Given the description of an element on the screen output the (x, y) to click on. 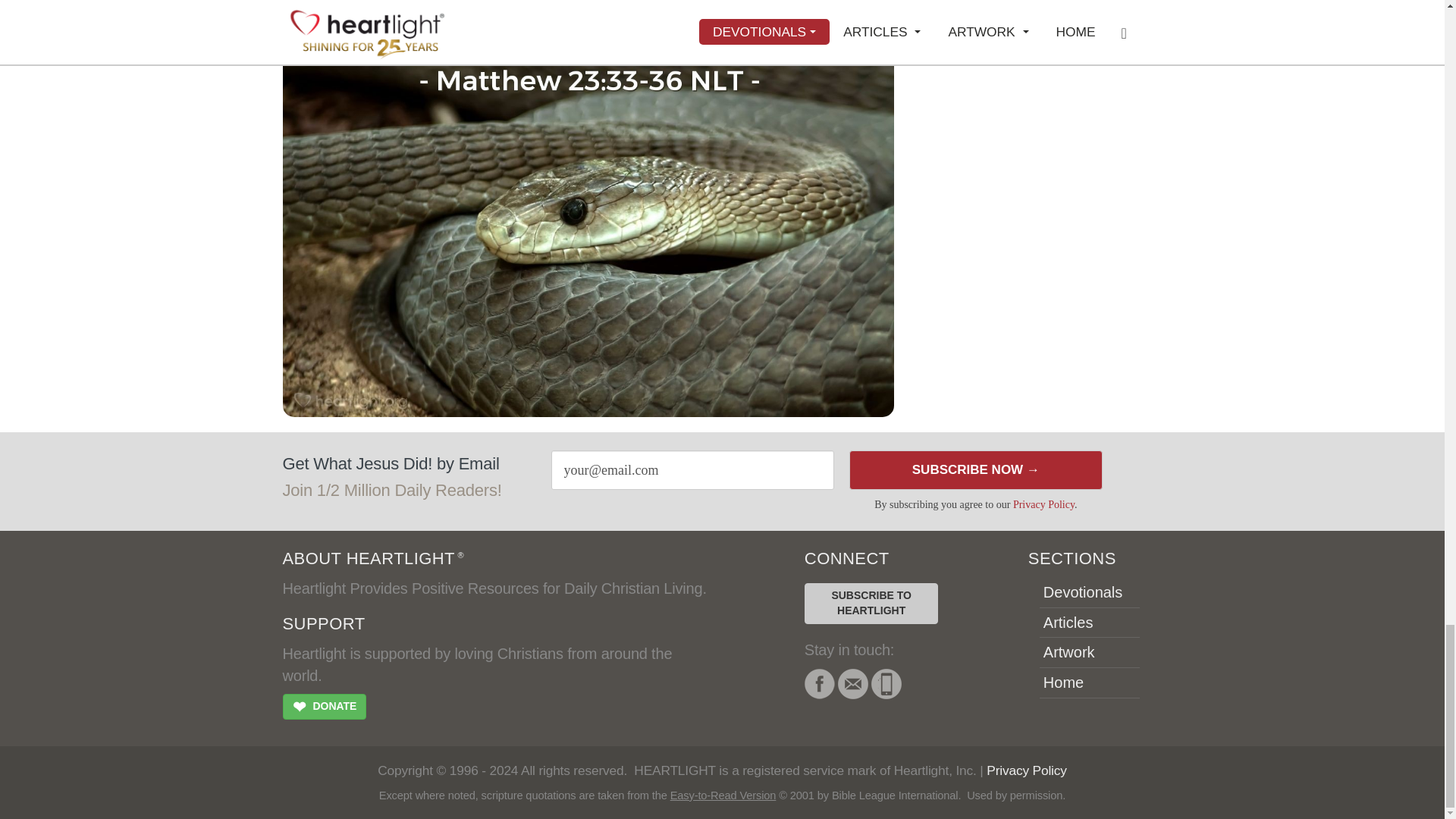
Heartlight on Facebook (819, 684)
Get the Heartlight App (885, 684)
Contact Us (852, 684)
